Given the description of an element on the screen output the (x, y) to click on. 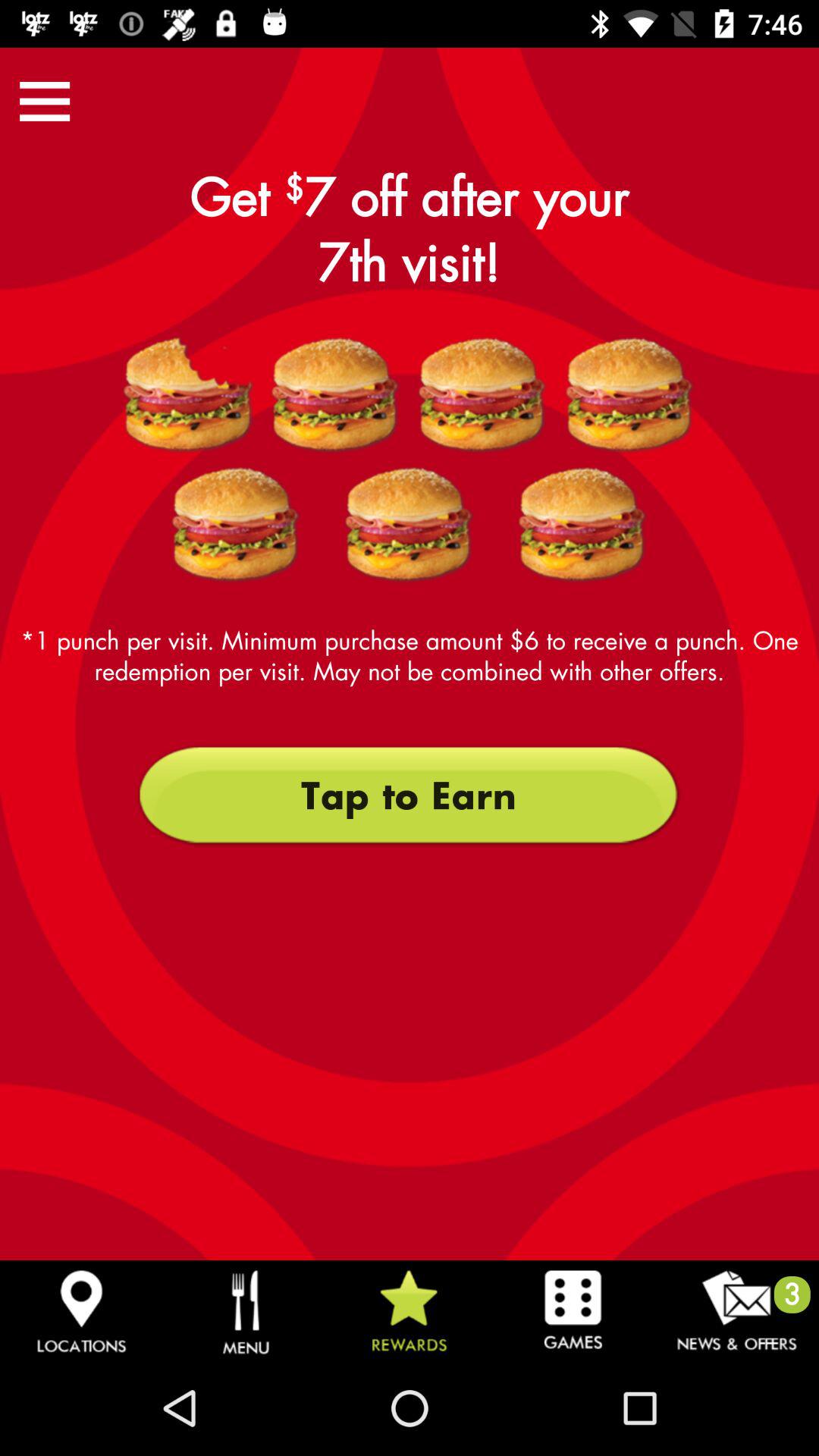
tap the icon next to get 7 off (44, 101)
